Given the description of an element on the screen output the (x, y) to click on. 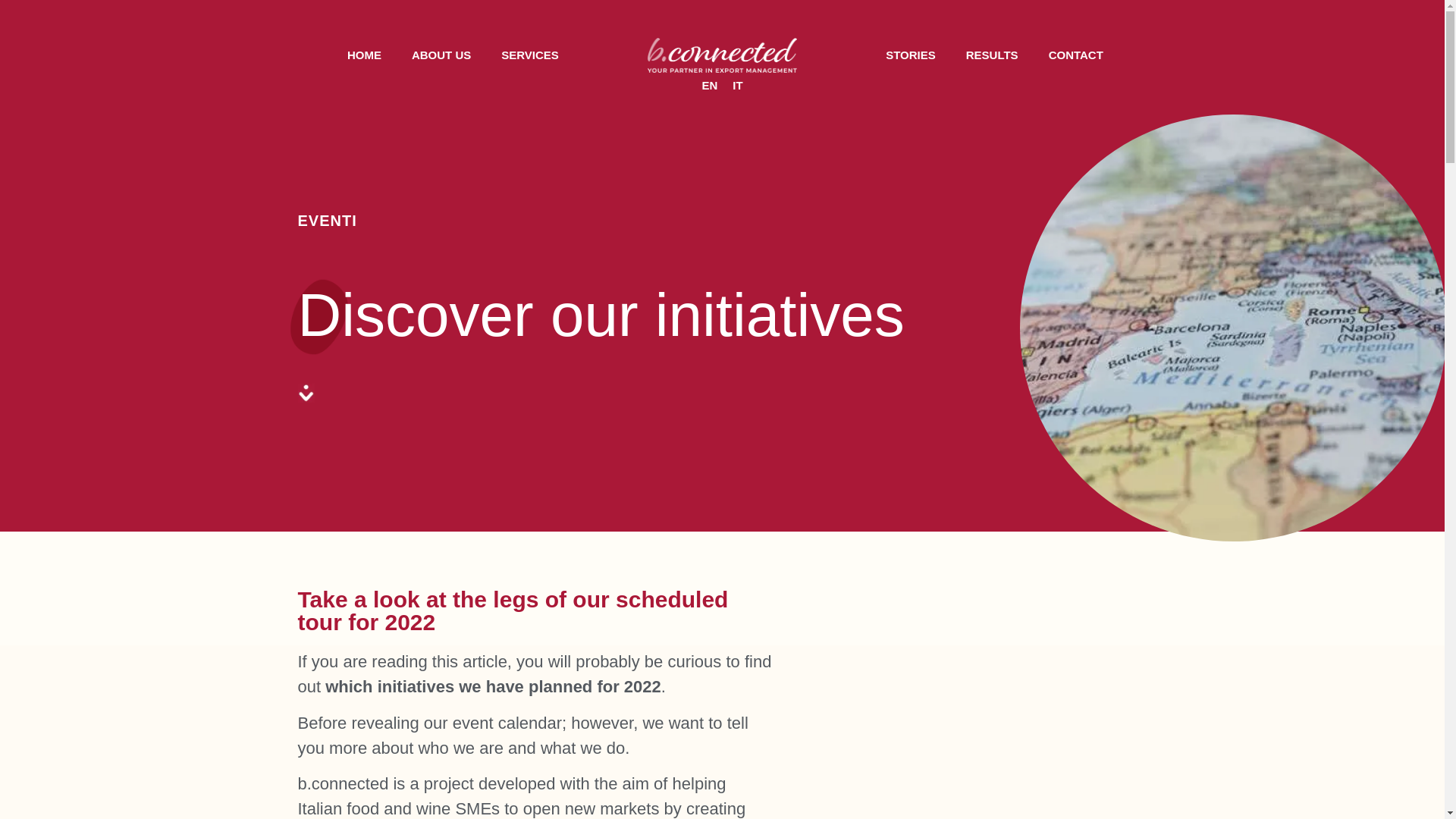
CONTACT (1075, 54)
SERVICES (529, 54)
IT (737, 84)
STORIES (910, 54)
RESULTS (991, 54)
ABOUT US (441, 54)
EN (709, 84)
HOME (364, 54)
